Given the description of an element on the screen output the (x, y) to click on. 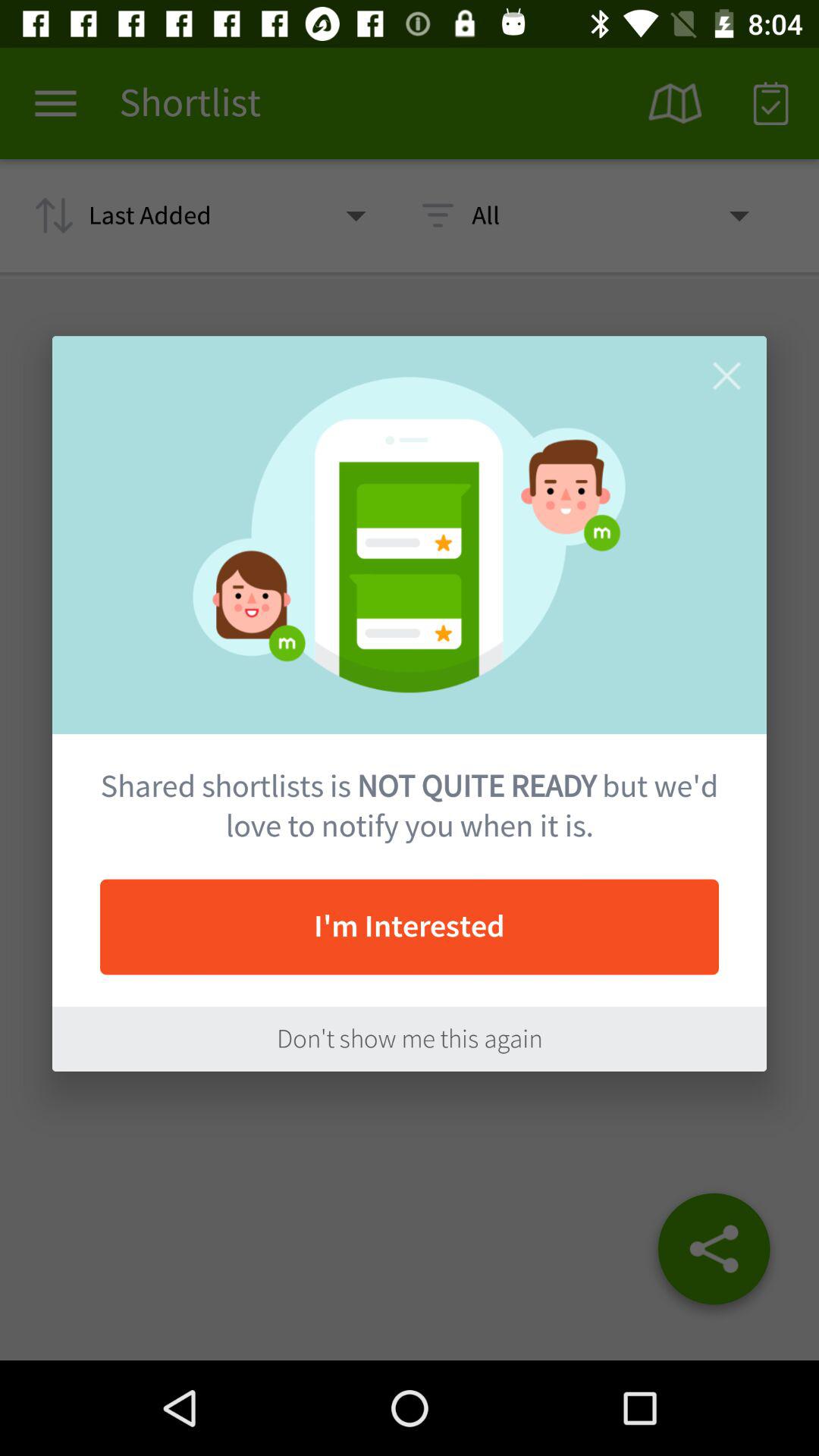
turn on icon at the top right corner (726, 375)
